Given the description of an element on the screen output the (x, y) to click on. 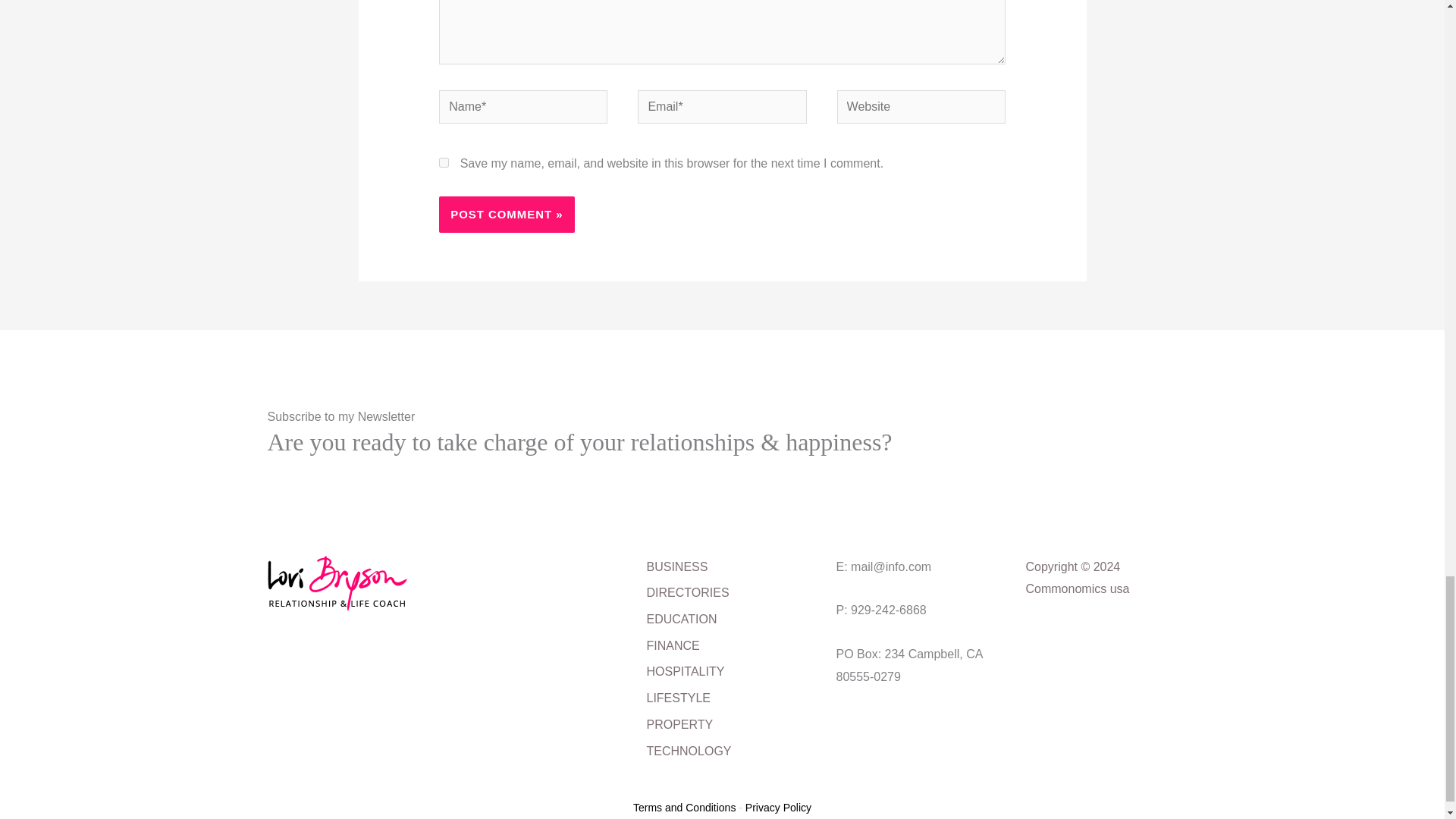
Privacy Policy (777, 807)
EDUCATION (681, 621)
Terms and Conditions (684, 807)
HOSPITALITY (684, 673)
PROPERTY (679, 726)
LIFESTYLE (678, 700)
TECHNOLOGY (688, 753)
DIRECTORIES (687, 594)
FINANCE (672, 647)
yes (443, 162)
